Given the description of an element on the screen output the (x, y) to click on. 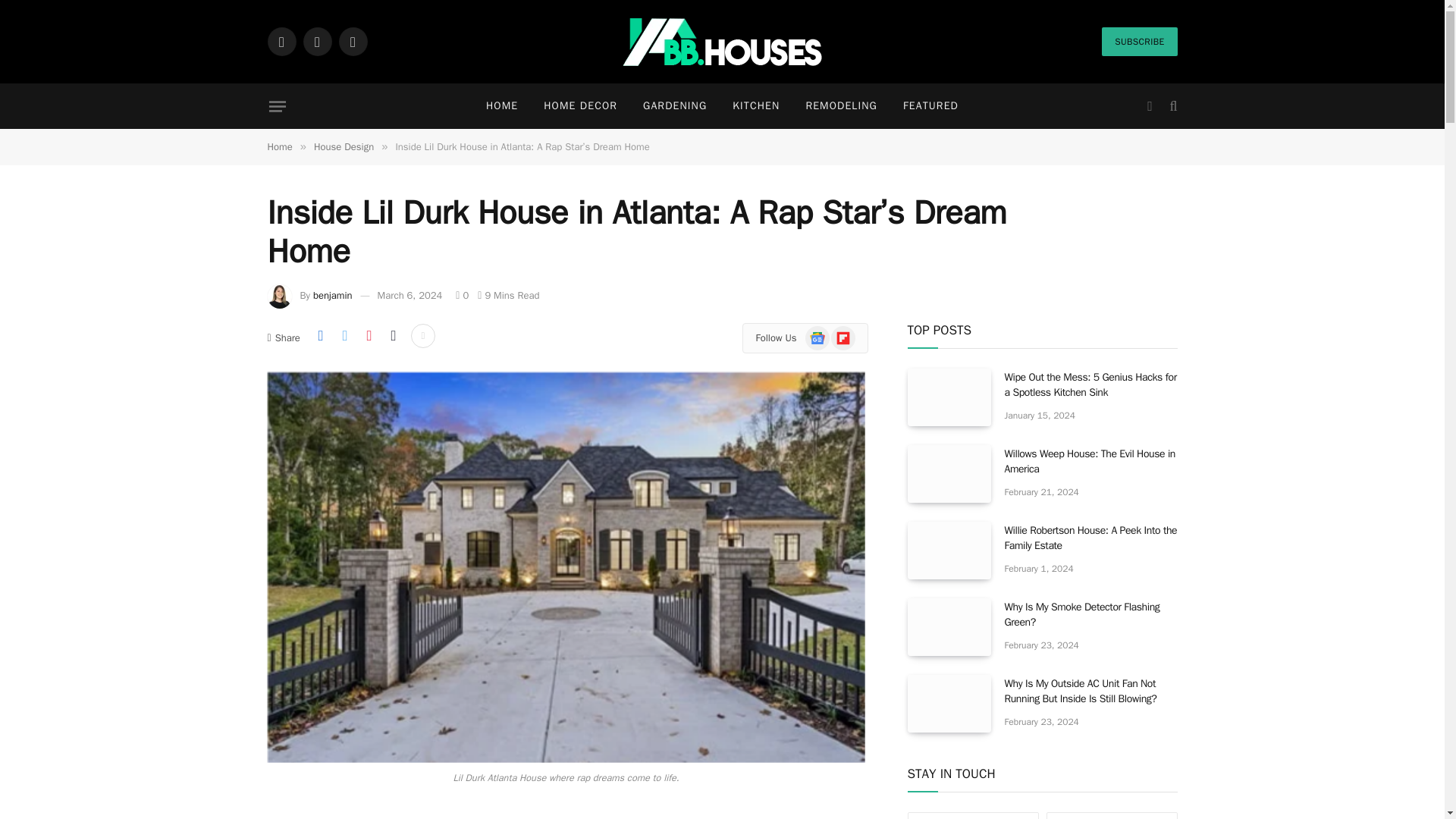
Bloxburg Houses (722, 41)
HOME DECOR (580, 105)
Facebook (280, 41)
benjamin (332, 295)
KITCHEN (755, 105)
REMODELING (840, 105)
HOME (502, 105)
Posts by benjamin (332, 295)
Instagram (351, 41)
Share on Facebook (319, 335)
